Given the description of an element on the screen output the (x, y) to click on. 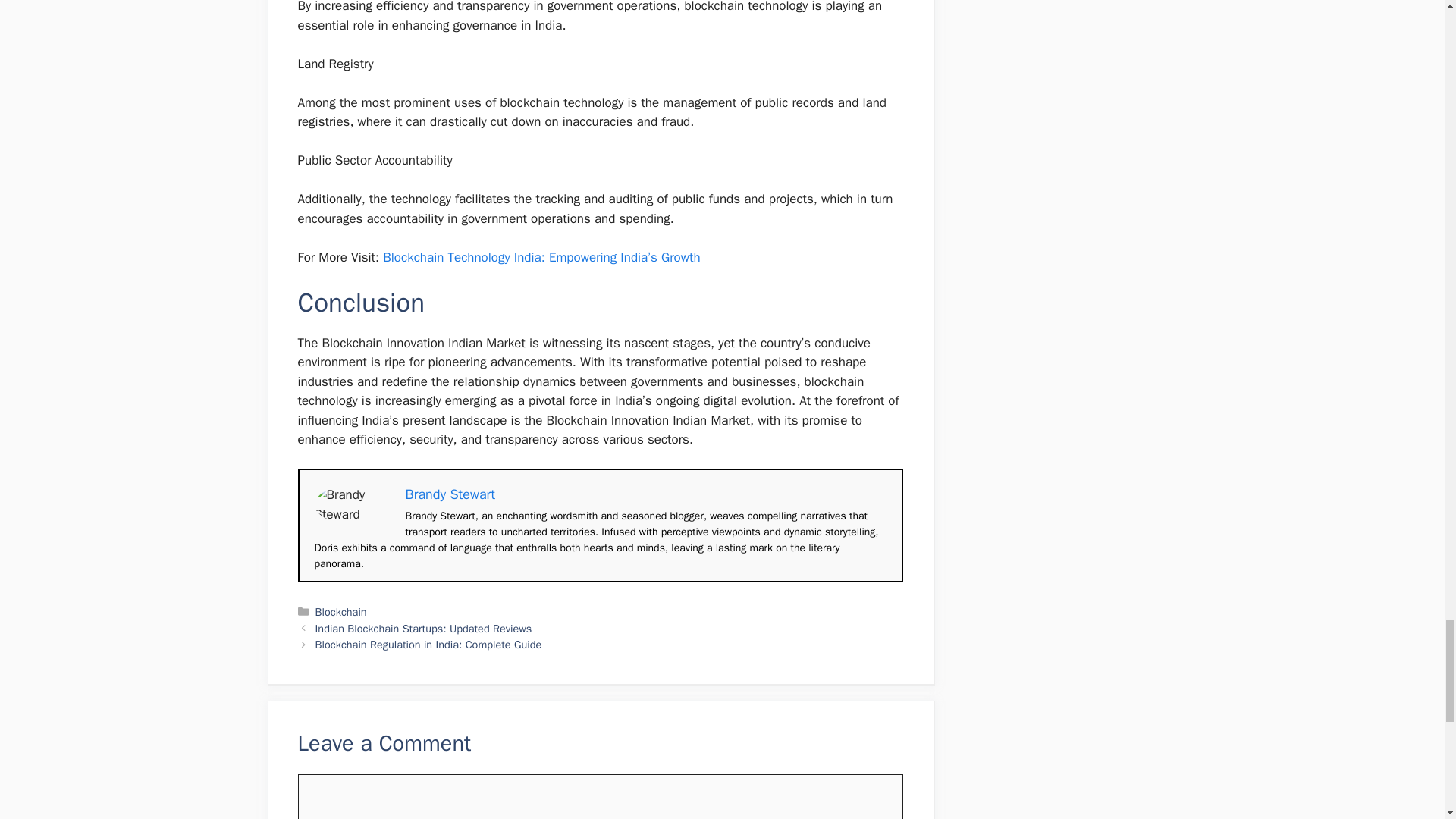
Brandy Stewart (449, 494)
Blockchain (340, 612)
Indian Blockchain Startups: Updated Reviews (423, 628)
Blockchain Regulation in India: Complete Guide (428, 644)
